Given the description of an element on the screen output the (x, y) to click on. 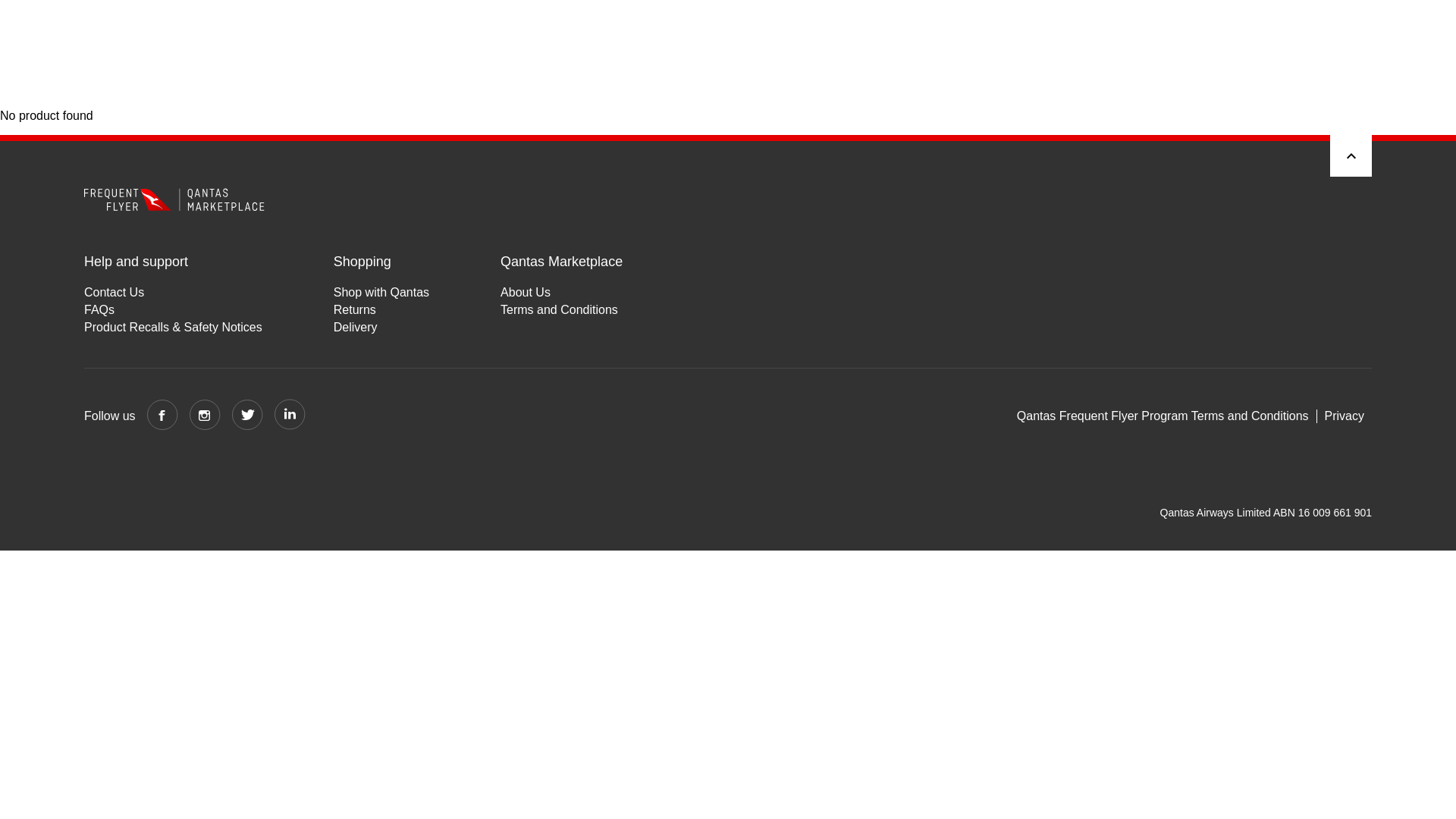
FAQs (173, 309)
Privacy (1344, 416)
Returns (381, 309)
Shop with Qantas (381, 292)
Delivery (381, 326)
Qantas Frequent Flyer Program Terms and Conditions (1166, 416)
Contact Us (173, 292)
Terms and Conditions (561, 309)
About Us (561, 292)
